Given the description of an element on the screen output the (x, y) to click on. 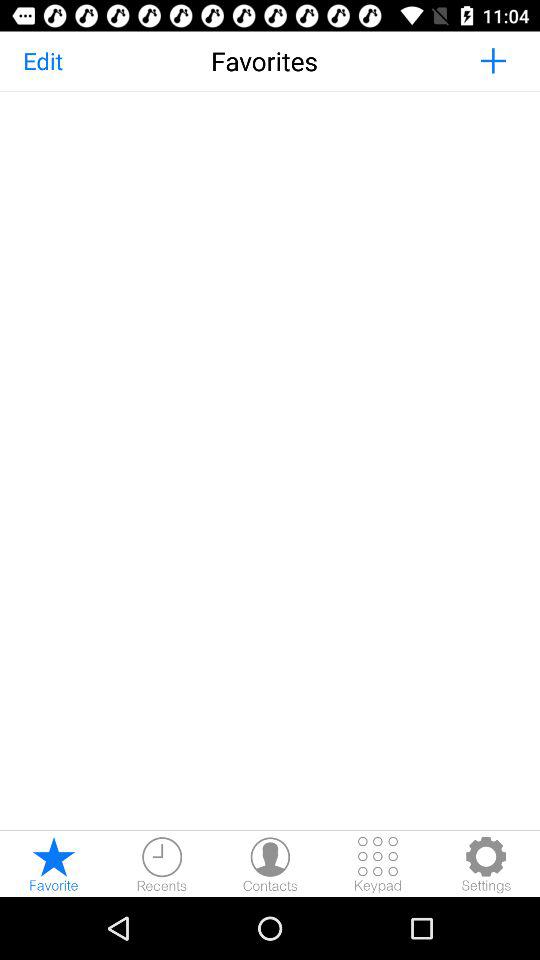
open the keypad (377, 864)
